Given the description of an element on the screen output the (x, y) to click on. 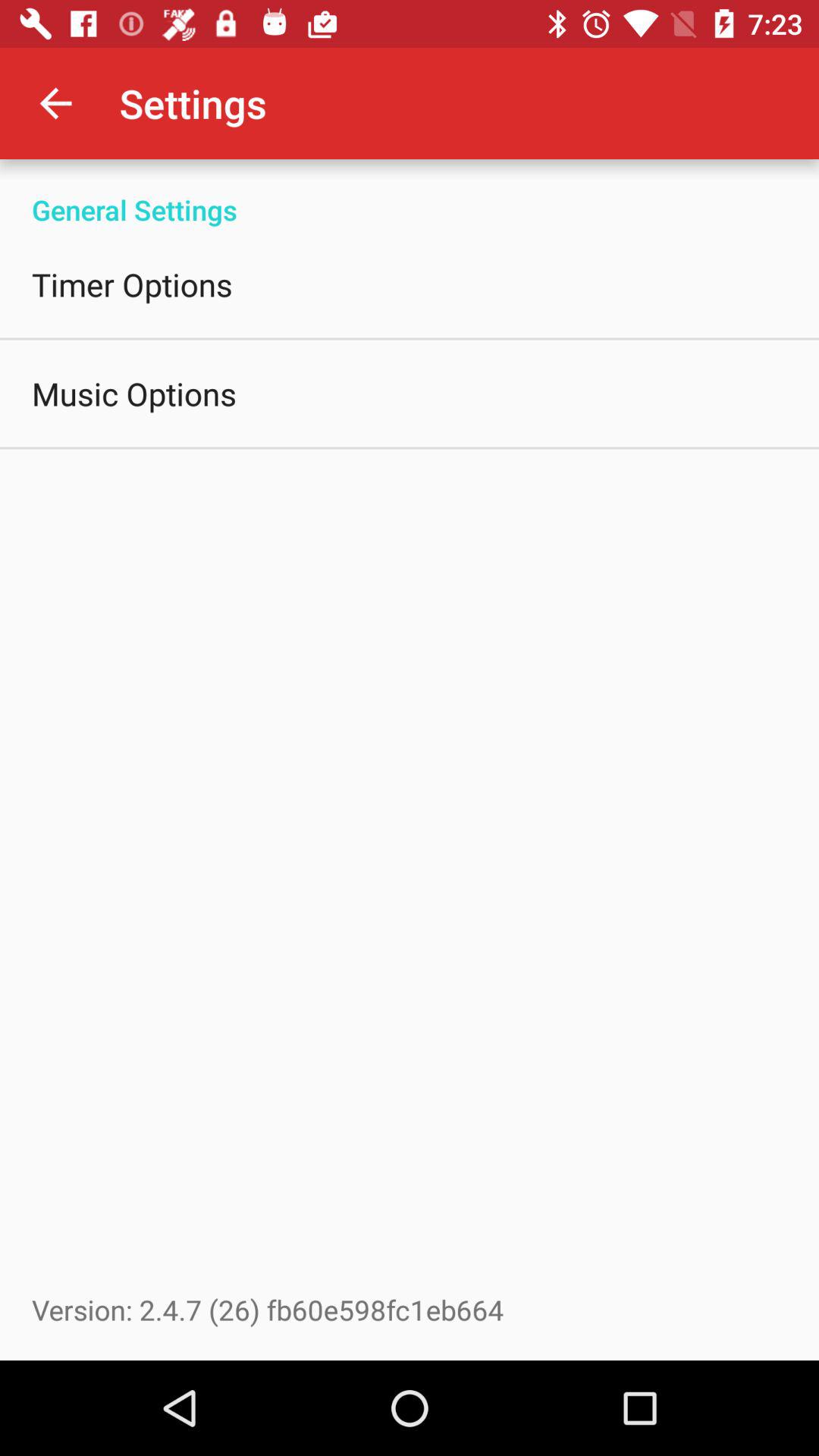
open icon above the version 2 4 icon (133, 393)
